Given the description of an element on the screen output the (x, y) to click on. 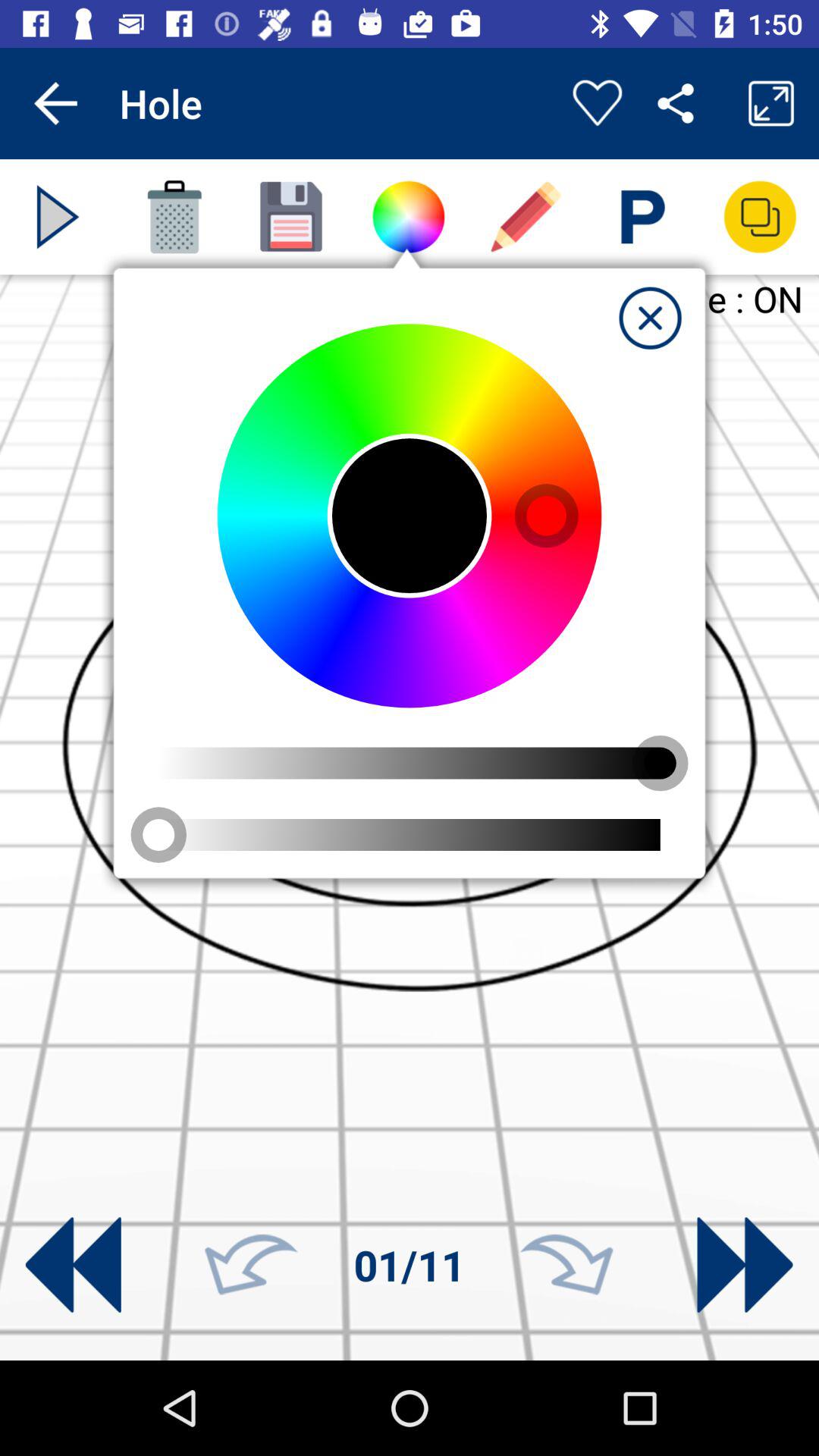
close the application function (650, 318)
